Given the description of an element on the screen output the (x, y) to click on. 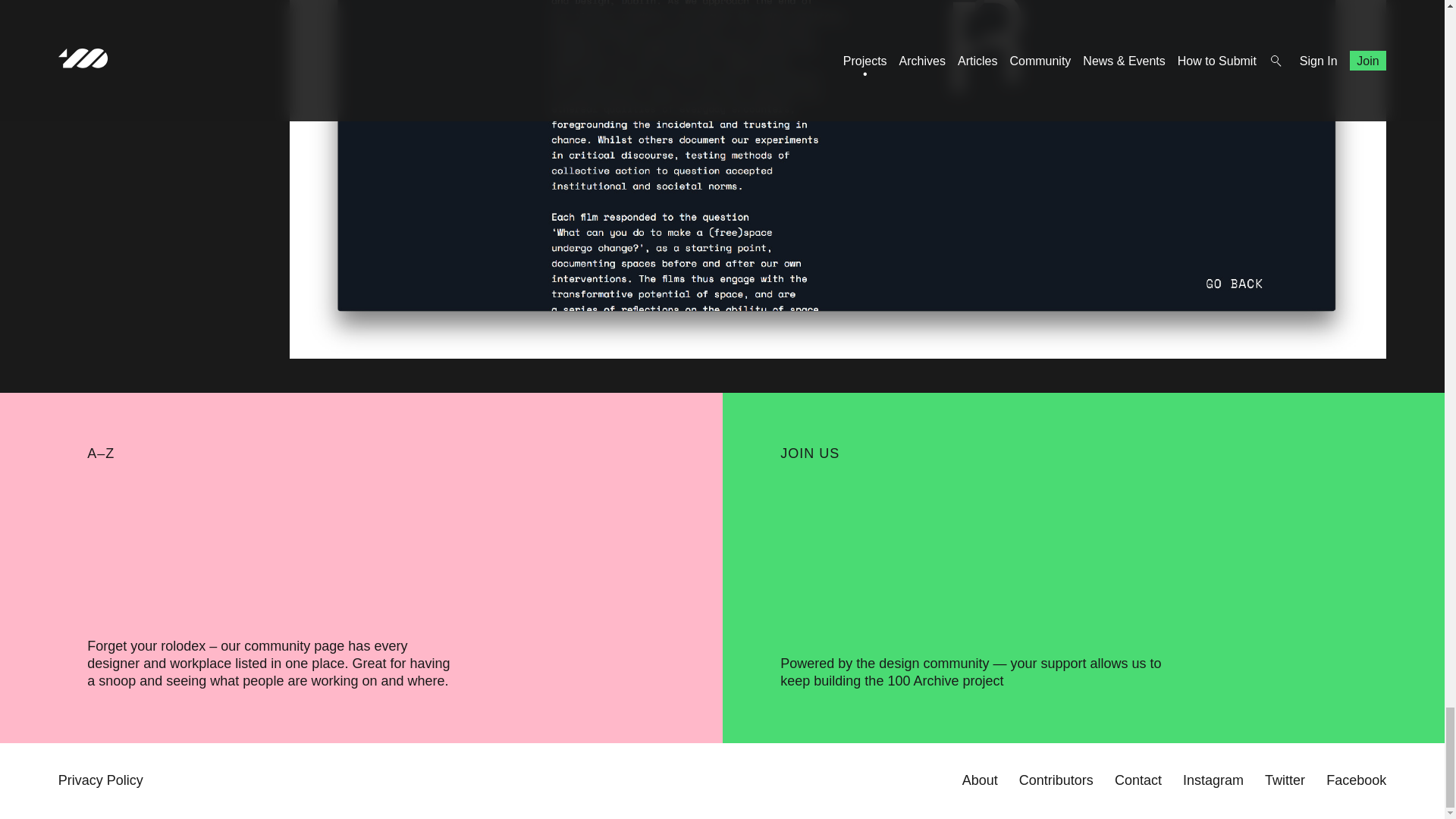
Twitter (1284, 780)
Contributors (1056, 780)
Instagram (1212, 780)
Facebook (1356, 780)
About (979, 780)
Contact (1138, 780)
Privacy Policy (100, 780)
